Given the description of an element on the screen output the (x, y) to click on. 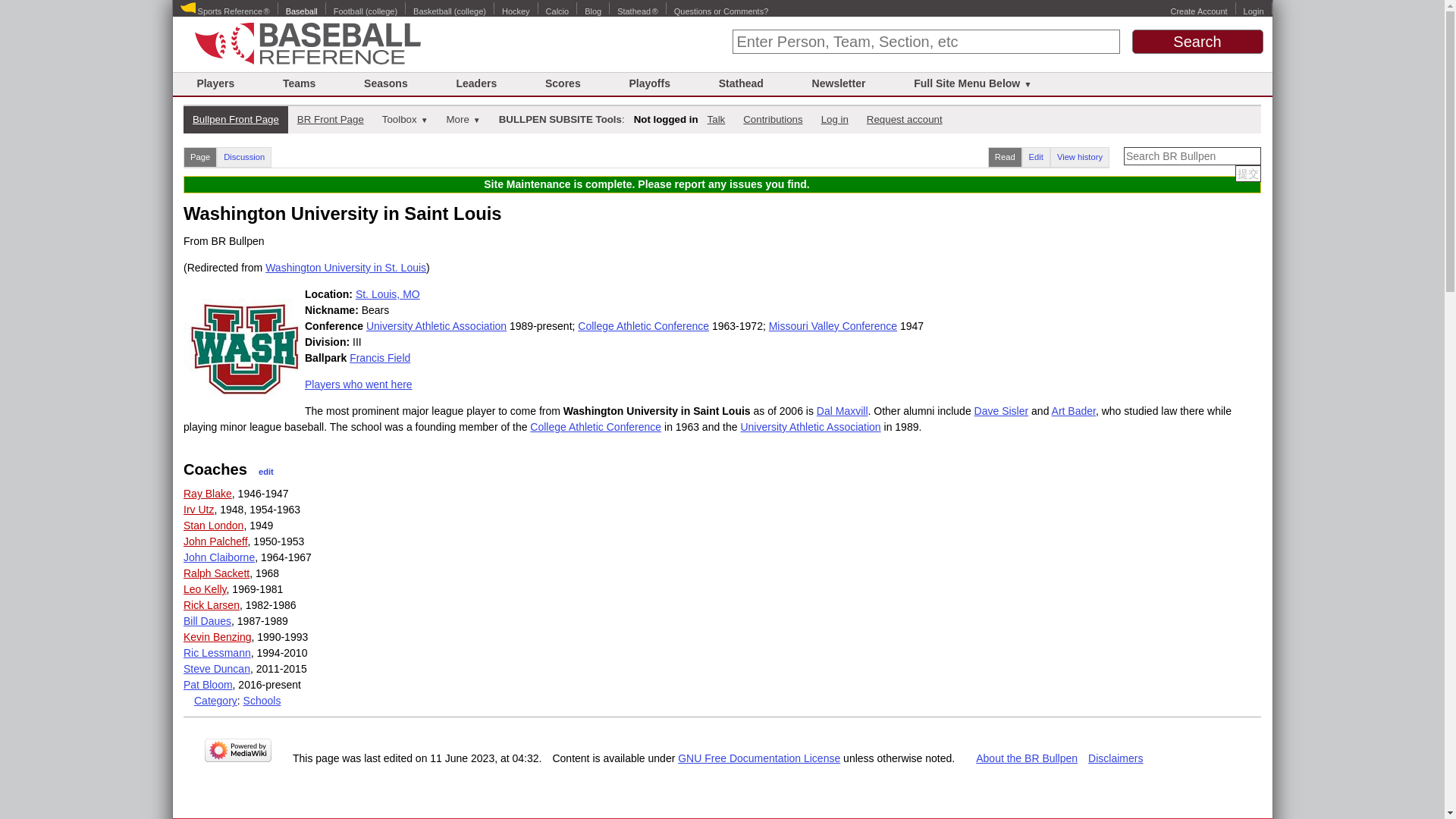
Newsletter (839, 82)
Players (215, 82)
Create Account (1198, 10)
Seasons (385, 82)
Stathead (740, 82)
Scores (562, 82)
Questions or Comments? (721, 10)
Bullpen Front Page (235, 119)
Full Site Menu Below (972, 83)
Baseball (301, 10)
BR Front Page (330, 119)
Hockey (515, 10)
Calcio (557, 10)
Blog (593, 10)
Football (347, 10)
